Given the description of an element on the screen output the (x, y) to click on. 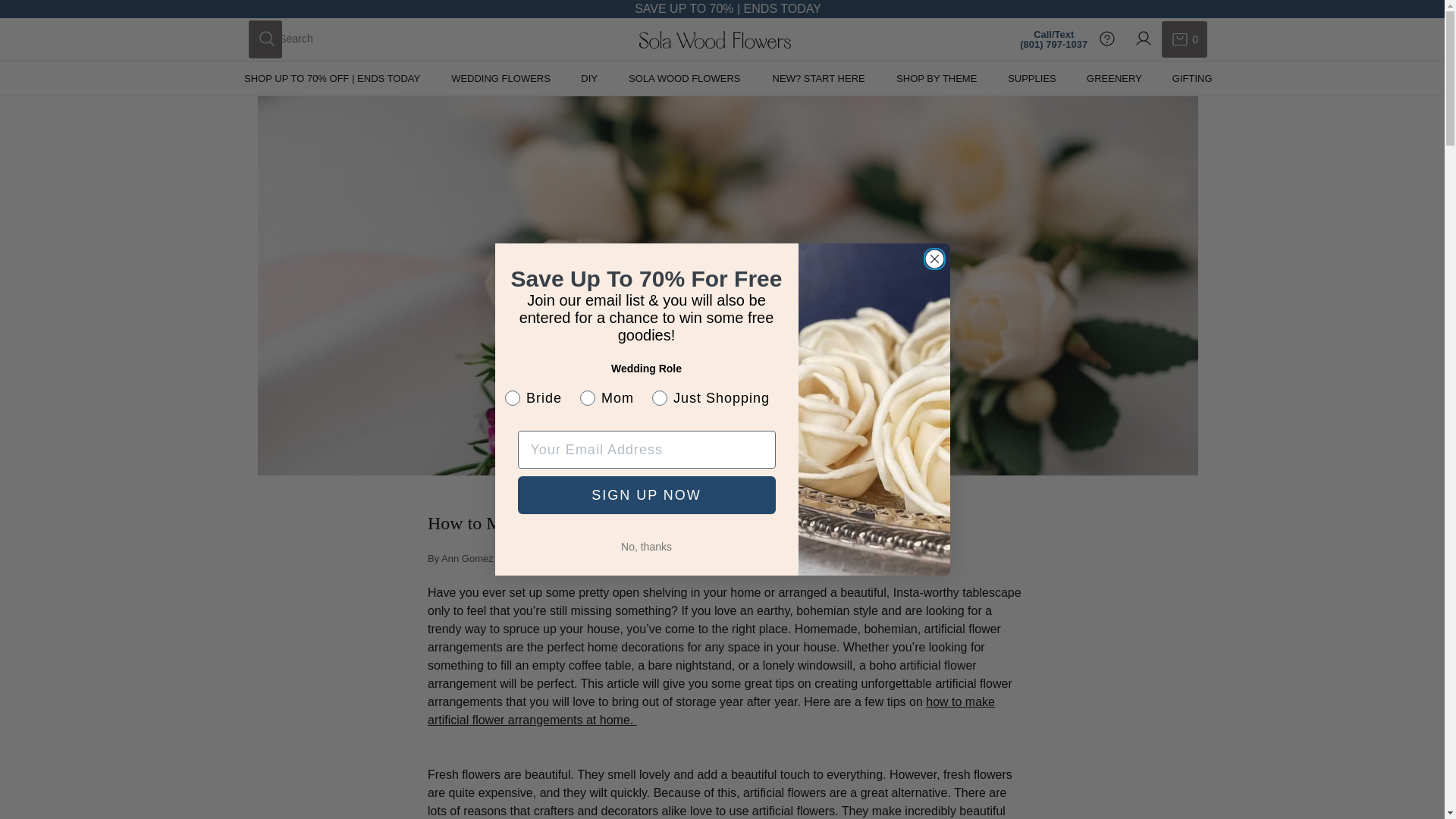
Log in (1143, 39)
WEDDING FLOWERS (500, 78)
View Homepage (714, 38)
Contact Us (1107, 39)
on (1184, 39)
DIY (714, 38)
on (589, 78)
